Given the description of an element on the screen output the (x, y) to click on. 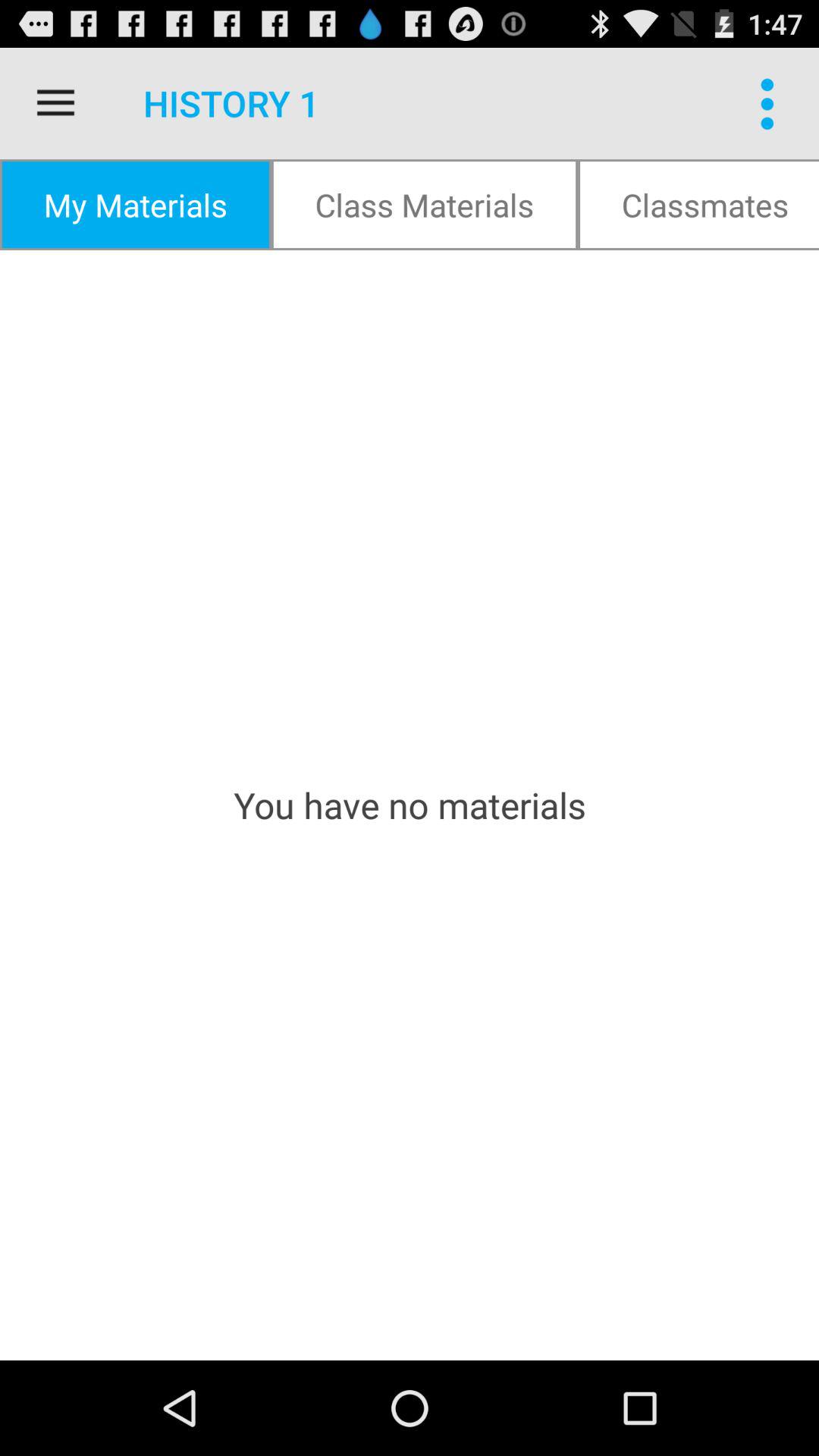
choose icon below the history 1 item (424, 204)
